Given the description of an element on the screen output the (x, y) to click on. 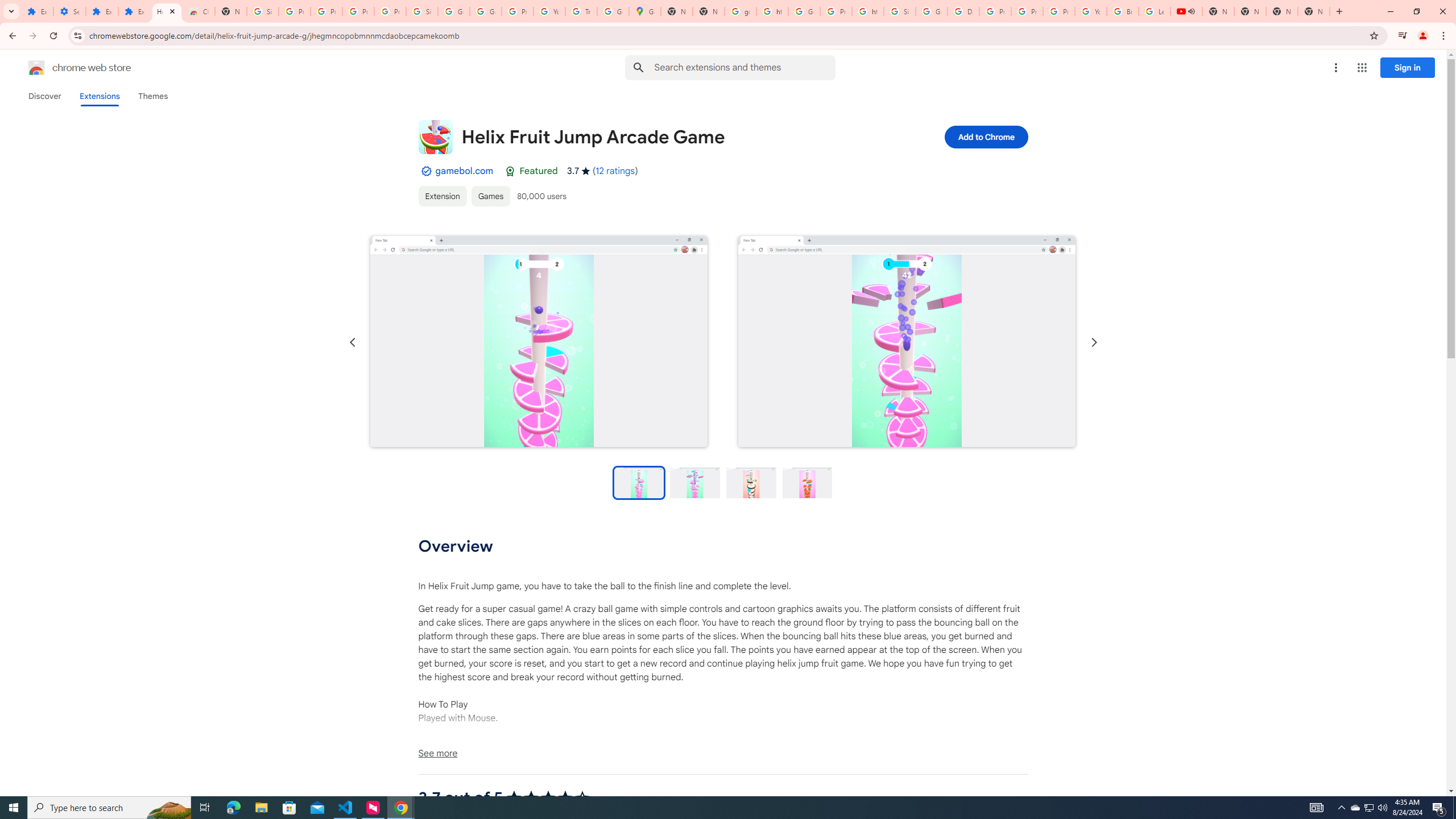
Extension (442, 195)
More options menu (1335, 67)
Item logo image for Helix Fruit Jump Arcade Game (434, 136)
New Tab (230, 11)
Item media 2 screenshot (906, 342)
New Tab (1313, 11)
Chrome Web Store logo (36, 67)
Themes (152, 95)
